Given the description of an element on the screen output the (x, y) to click on. 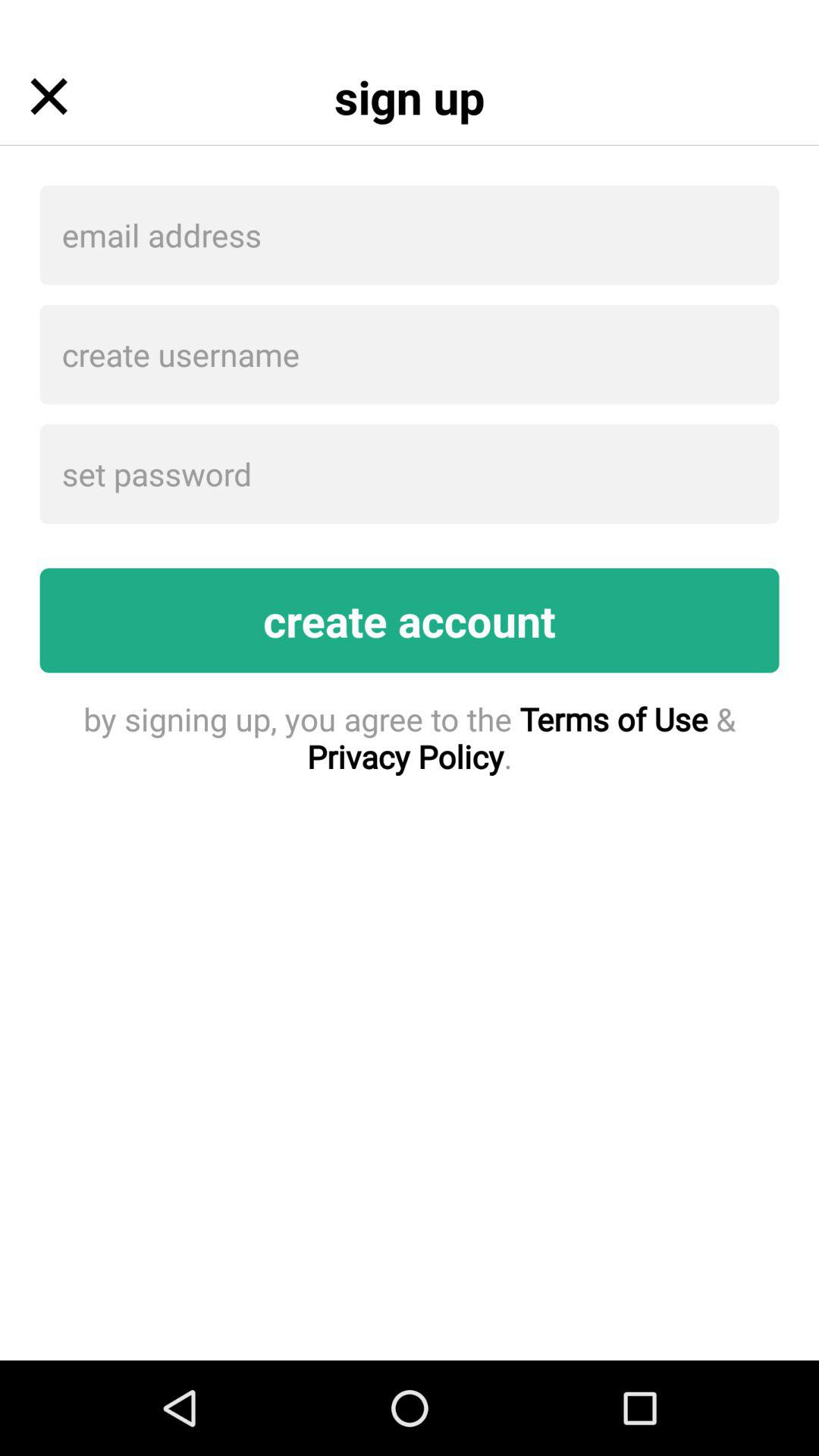
scroll to by signing up (409, 737)
